Given the description of an element on the screen output the (x, y) to click on. 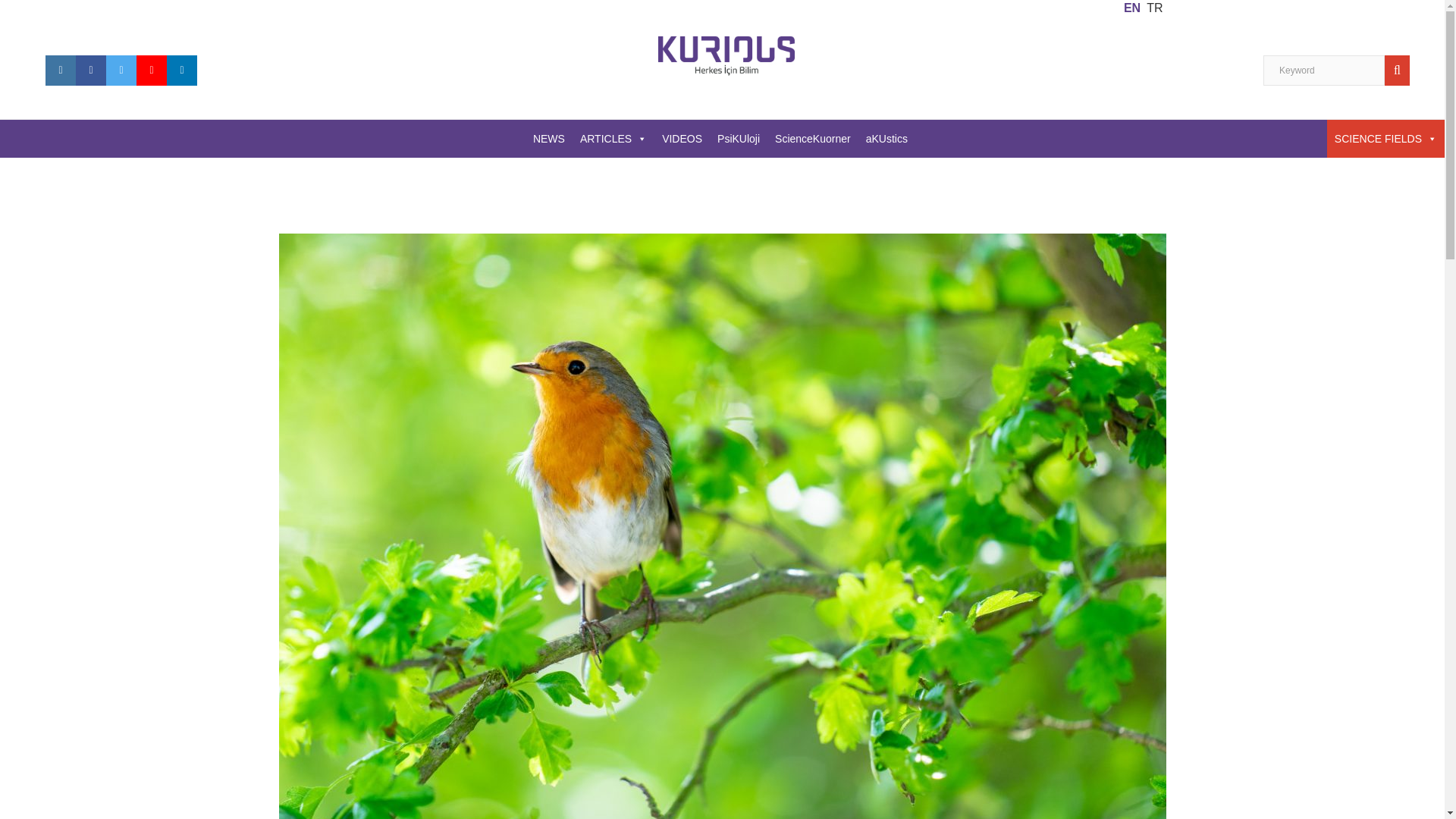
Search (1399, 70)
Search (1399, 70)
Linkedin (181, 70)
Twitter (121, 70)
ScienceKuorner (813, 138)
Search (1399, 70)
EN (1131, 8)
Facebook (90, 70)
PsiKUloji (738, 138)
NEWS (548, 138)
